Given the description of an element on the screen output the (x, y) to click on. 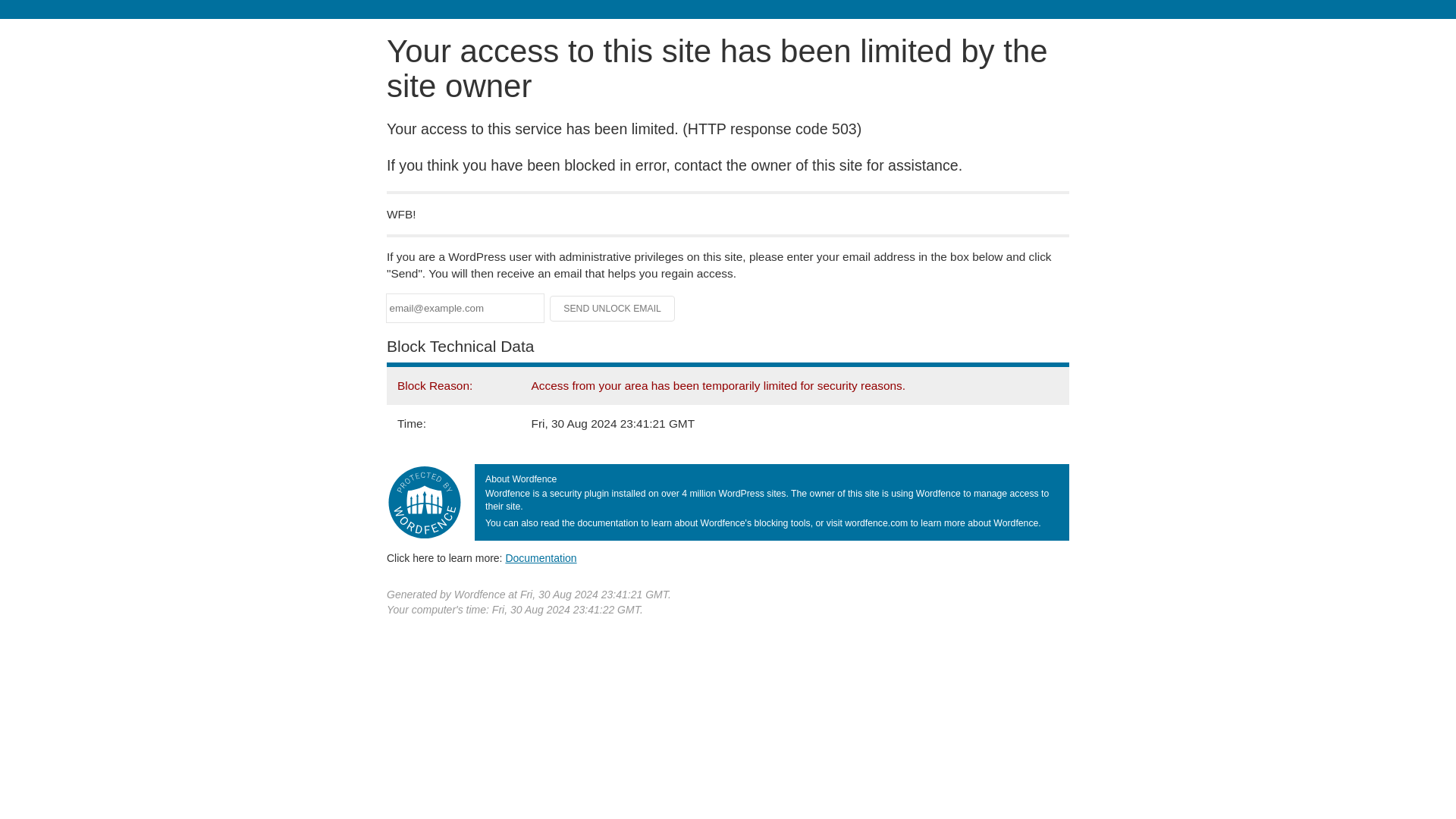
Send Unlock Email (612, 308)
Documentation (540, 558)
Send Unlock Email (612, 308)
